Given the description of an element on the screen output the (x, y) to click on. 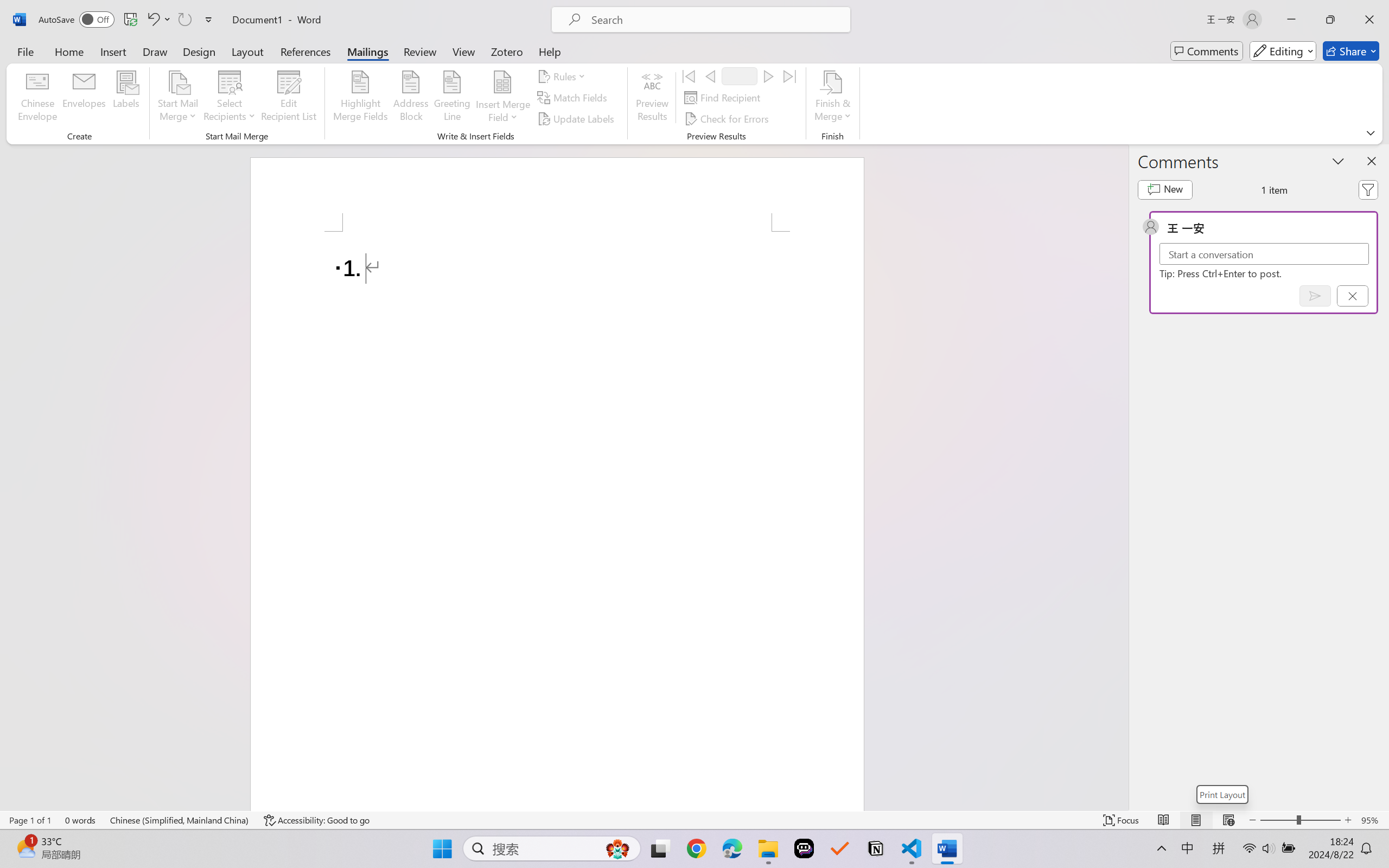
Labels... (126, 97)
Rules (563, 75)
Insert Merge Field (502, 97)
Last (790, 75)
Update Labels (576, 118)
Envelopes... (84, 97)
Insert Merge Field (502, 81)
Preview Results (652, 97)
Select Recipients (229, 97)
